Given the description of an element on the screen output the (x, y) to click on. 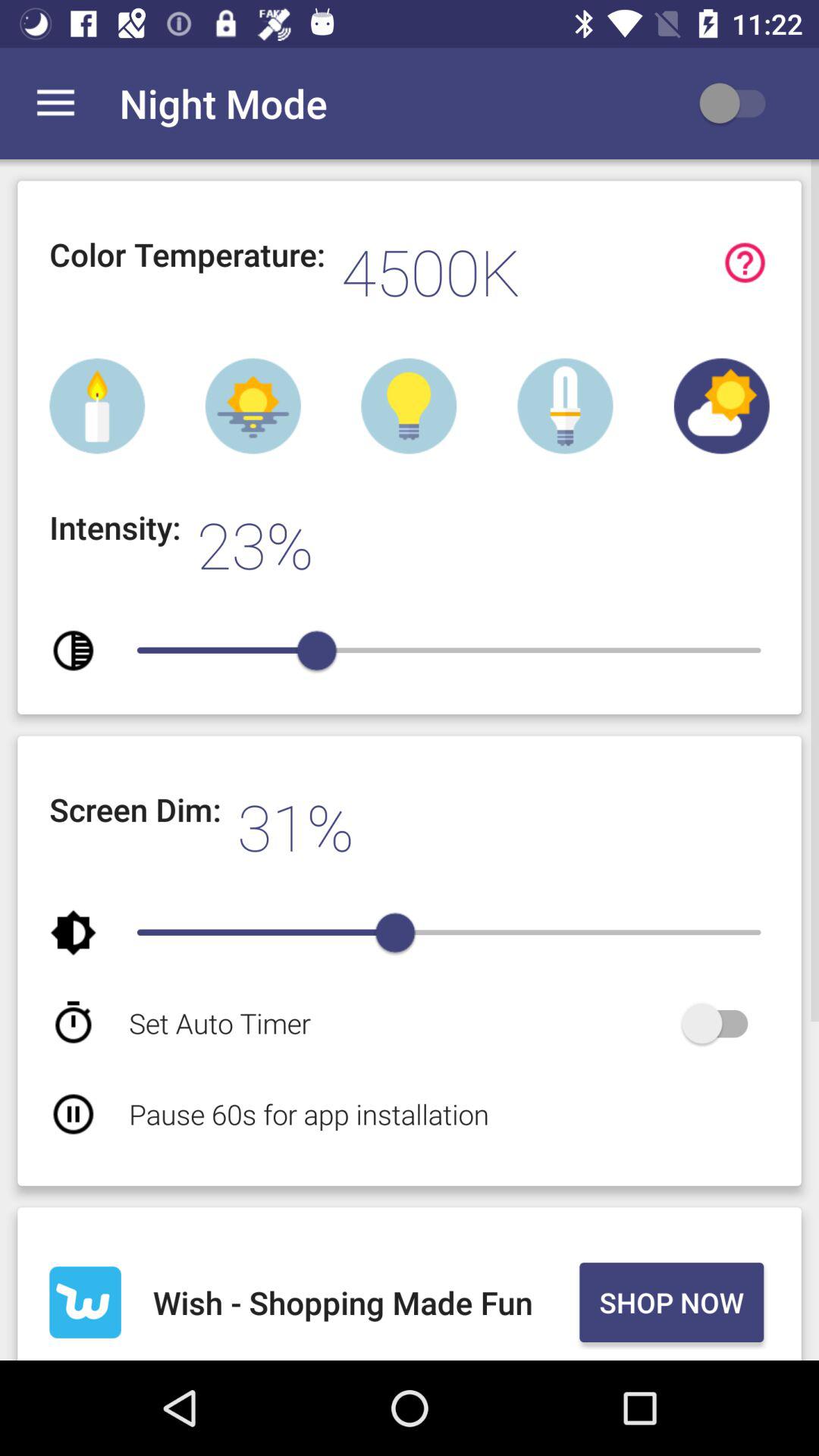
choose the app to the right of night mode app (739, 103)
